Given the description of an element on the screen output the (x, y) to click on. 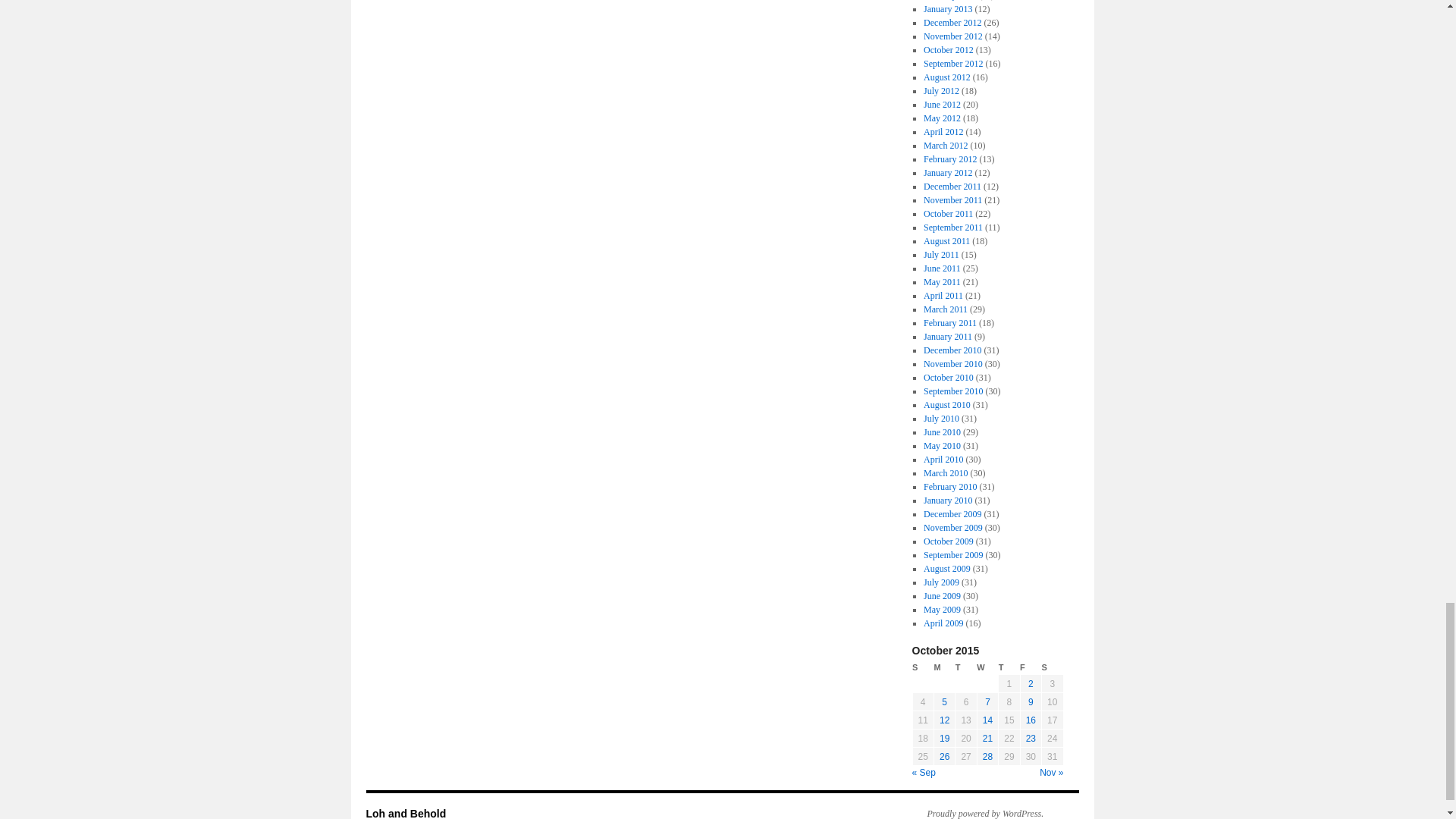
Sunday (922, 667)
Saturday (1052, 667)
Monday (944, 667)
Thursday (1009, 667)
Wednesday (986, 667)
Tuesday (965, 667)
Friday (1030, 667)
